Given the description of an element on the screen output the (x, y) to click on. 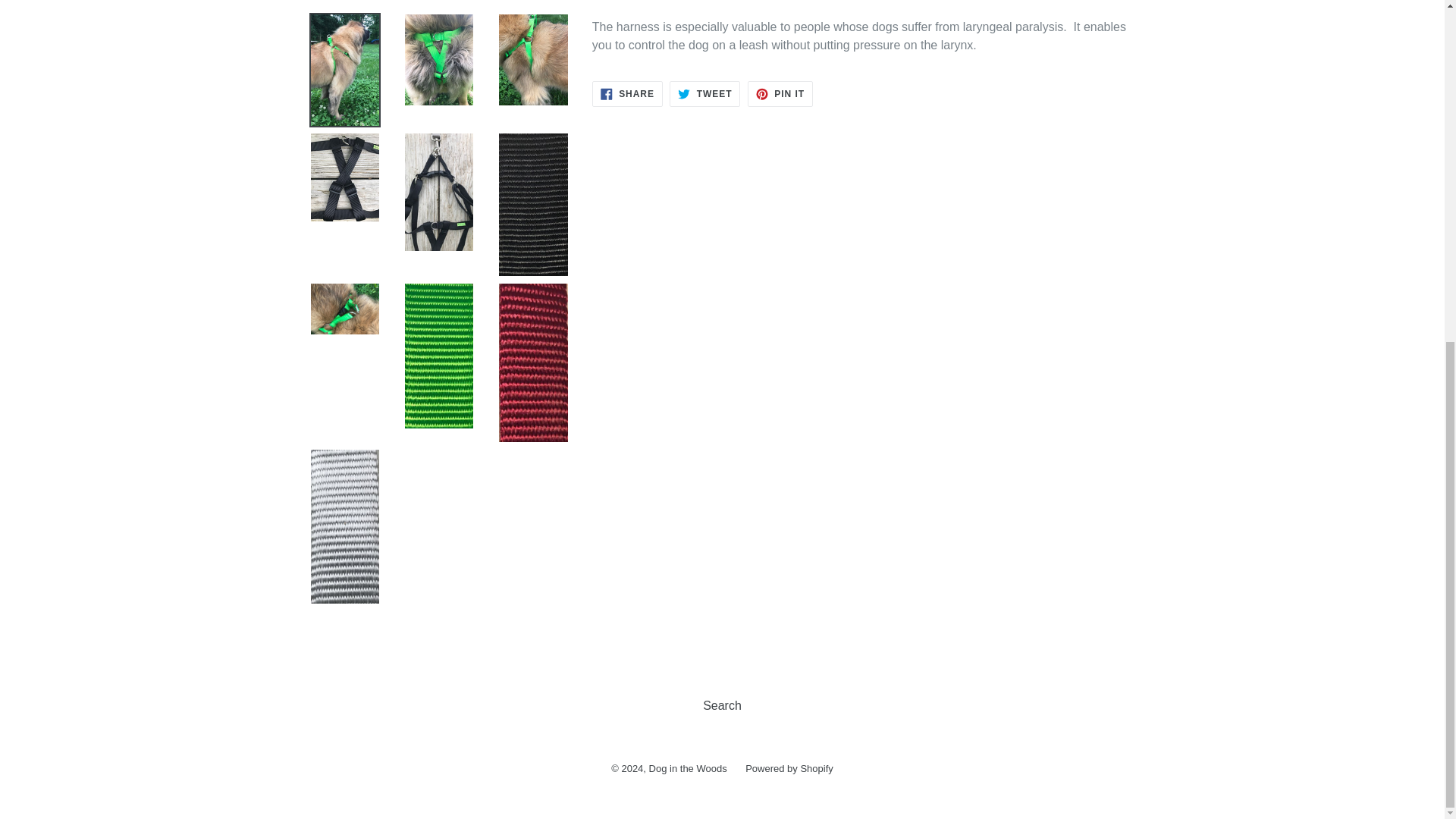
Pin on Pinterest (780, 94)
Tweet on Twitter (704, 94)
Share on Facebook (627, 94)
